Given the description of an element on the screen output the (x, y) to click on. 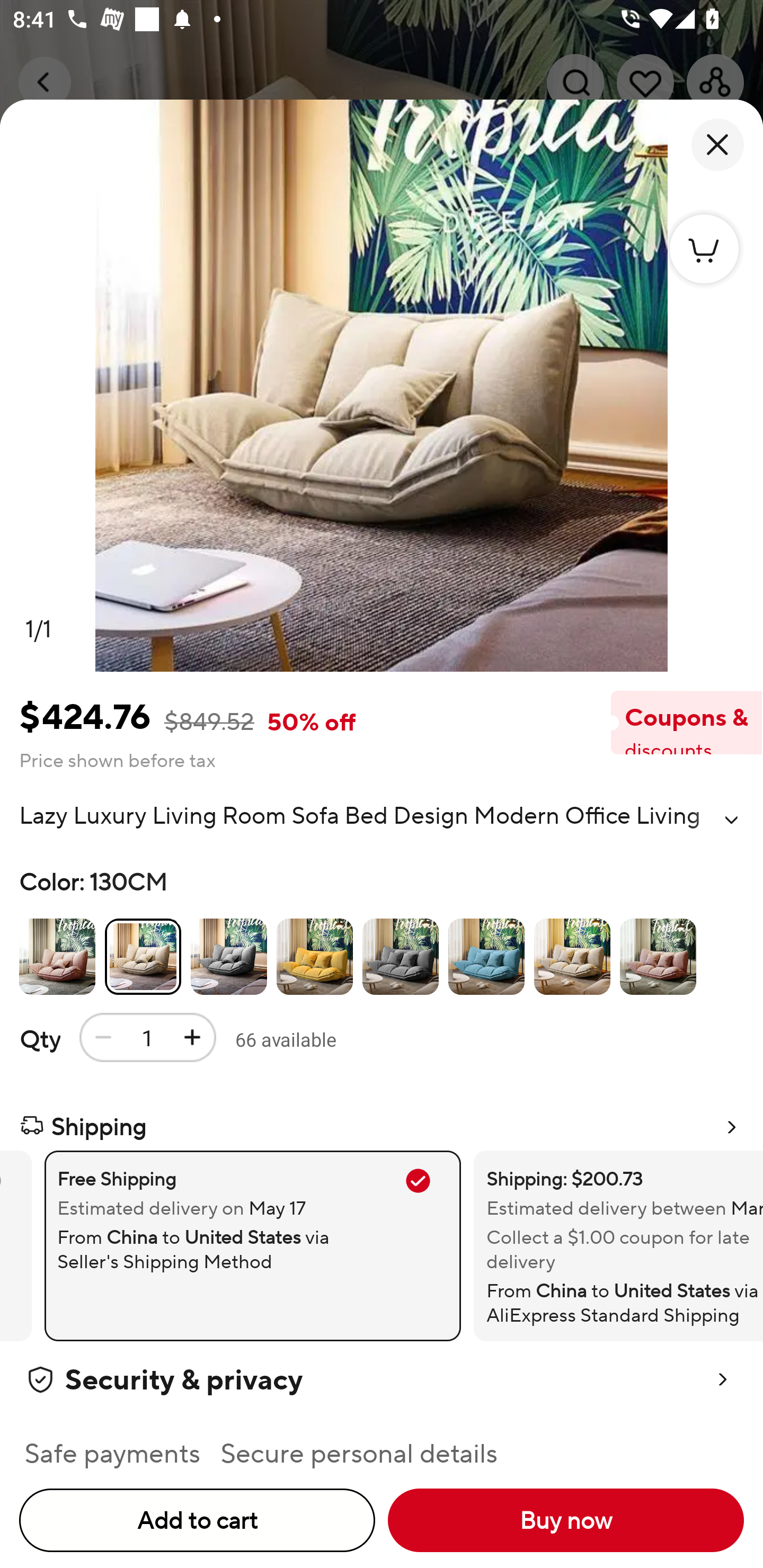
close  (717, 144)
 (730, 819)
Add to cart (197, 1520)
Buy now (565, 1520)
